Given the description of an element on the screen output the (x, y) to click on. 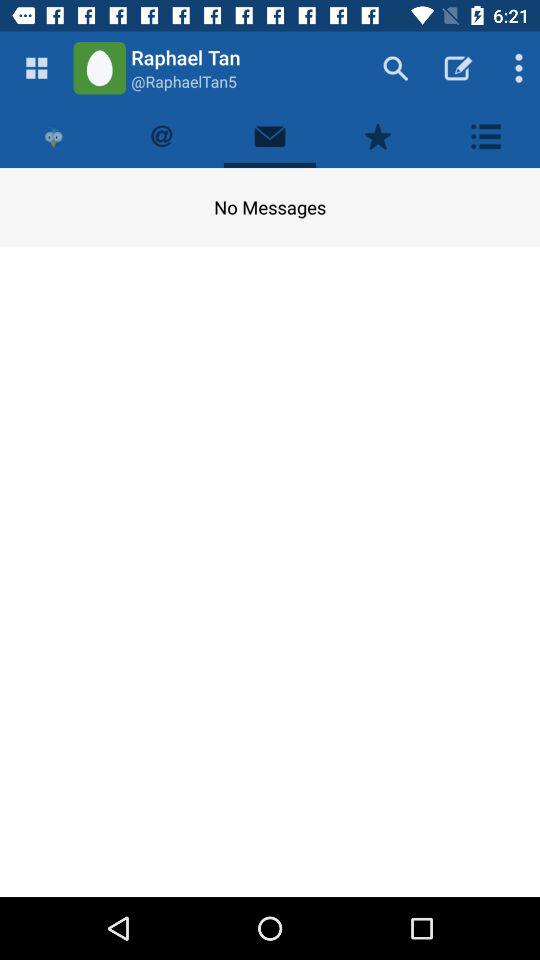
your messages (270, 136)
